Given the description of an element on the screen output the (x, y) to click on. 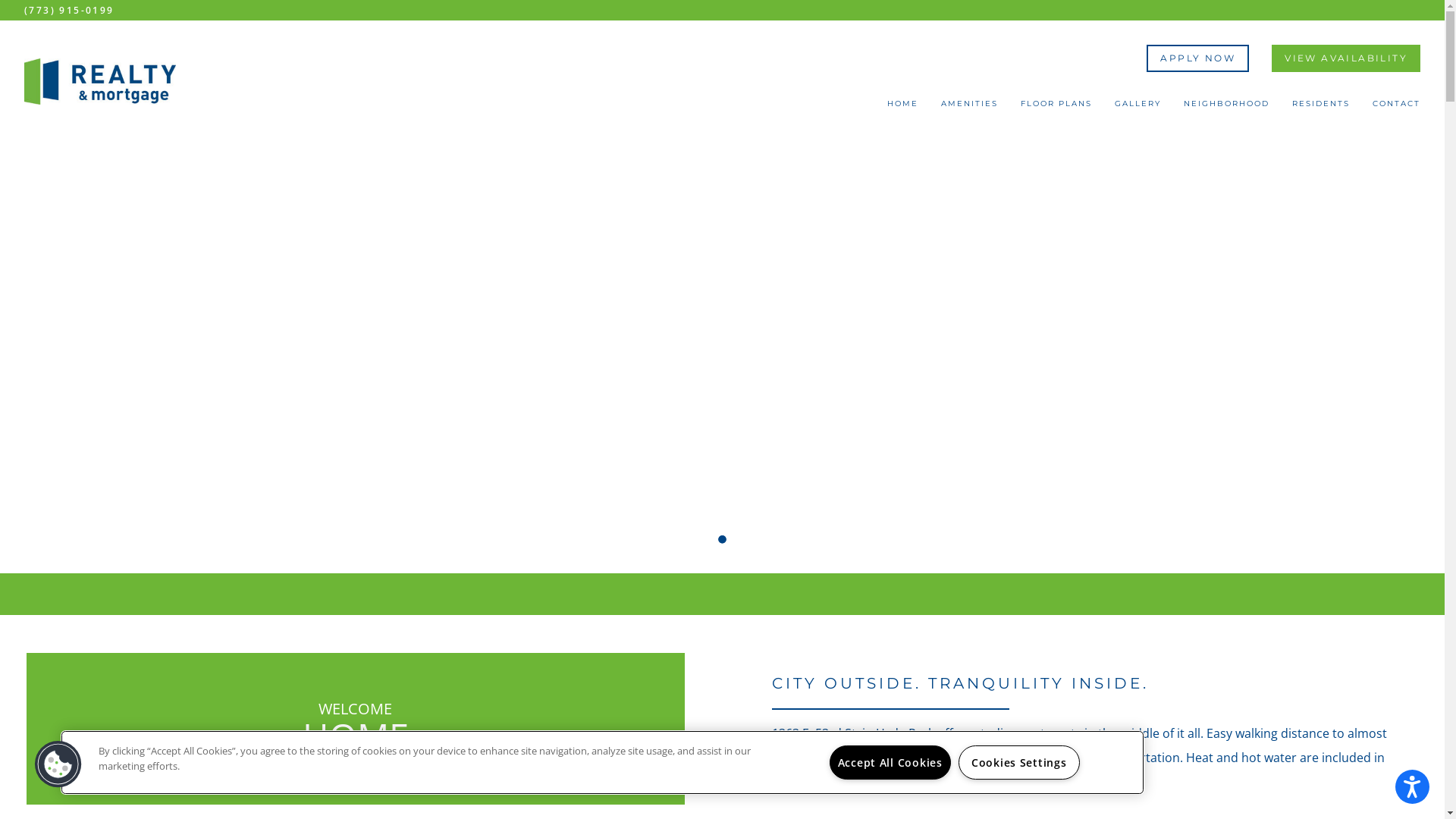
AMENITIES Element type: text (969, 108)
HOME Element type: text (902, 108)
Accept All Cookies Element type: text (889, 762)
Home Element type: hover (99, 81)
GALLERY Element type: text (1137, 108)
RESIDENTS Element type: text (1320, 108)
FLOOR PLANS Element type: text (1056, 108)
APPLY NOW Element type: text (1197, 58)
NEIGHBORHOOD Element type: text (1226, 108)
(773) 915-0199 Element type: text (69, 9)
Cookies Button Element type: text (58, 764)
CONTACT Element type: text (1396, 108)
VIEW AVAILABILITY Element type: text (1345, 58)
Cookies Settings Element type: text (1018, 762)
